Given the description of an element on the screen output the (x, y) to click on. 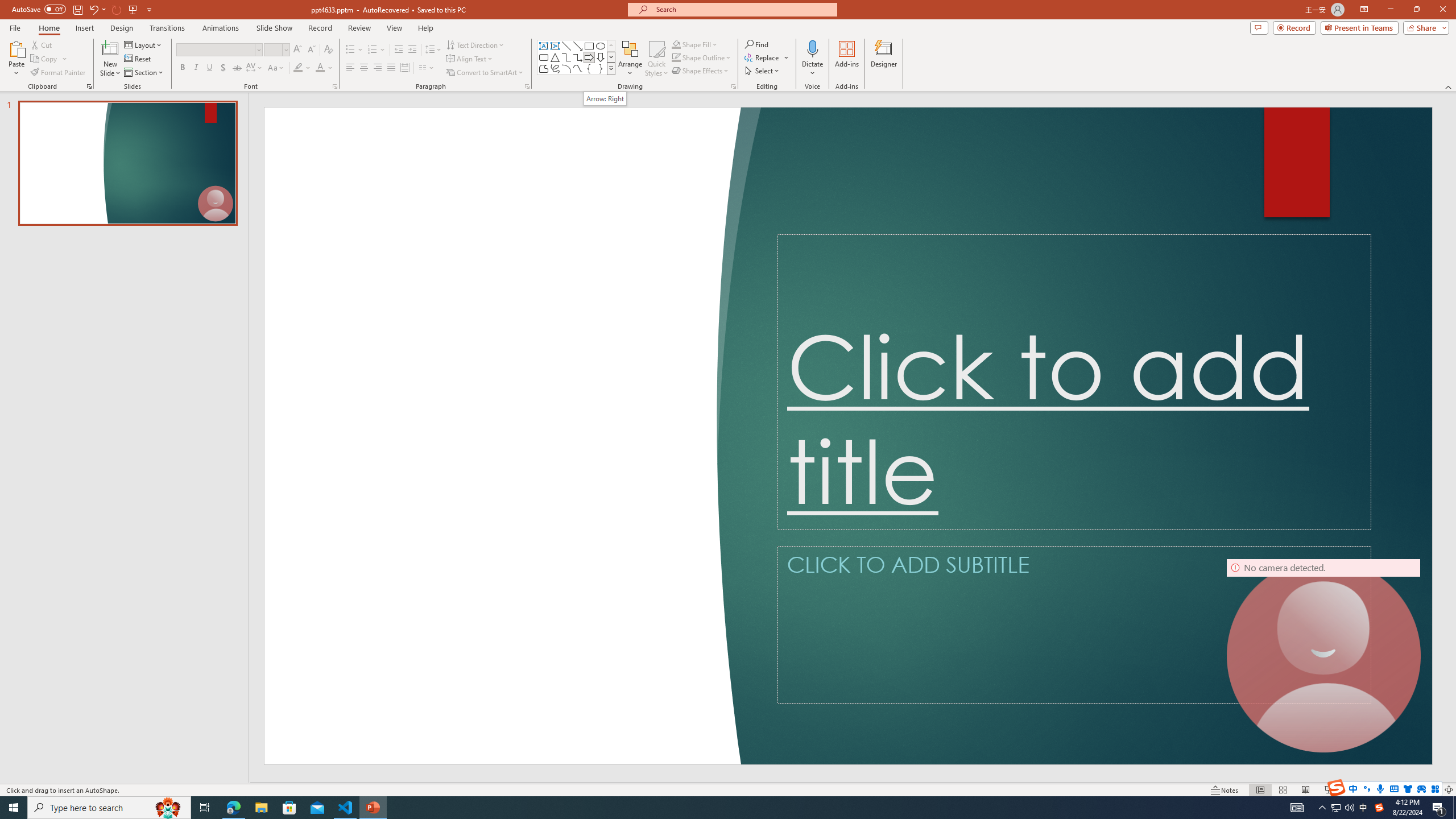
Arrange (630, 58)
Shape Fill Orange, Accent 2 (675, 44)
Paragraph... (526, 85)
Clear Formatting (327, 49)
Freeform: Scribble (554, 68)
Arrow: Down (600, 57)
